Given the description of an element on the screen output the (x, y) to click on. 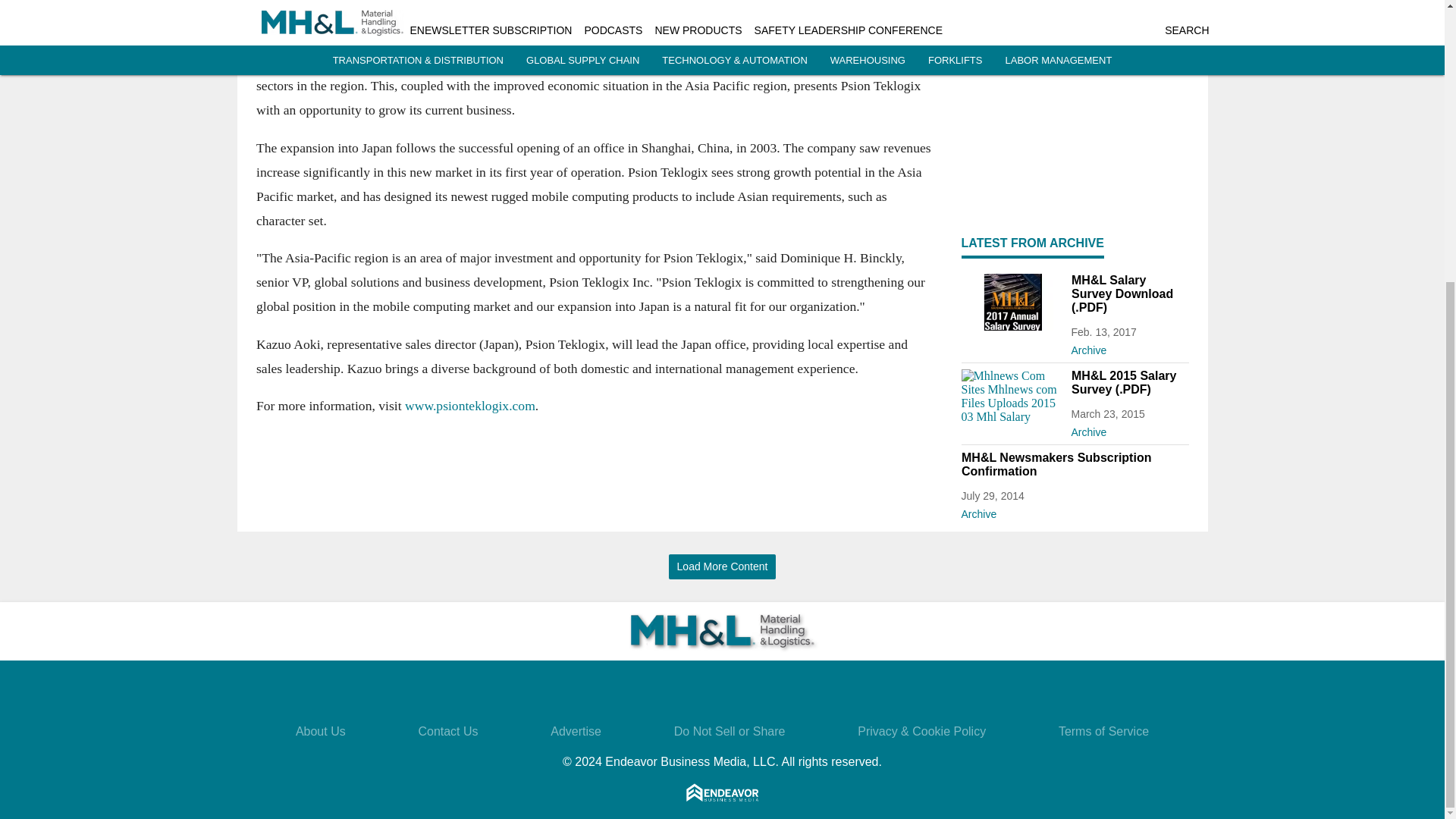
Archive (1129, 429)
About Us (320, 730)
Contact Us (447, 730)
Archive (1074, 511)
Do Not Sell or Share (730, 730)
Load More Content (722, 566)
Archive (1129, 347)
Advertise (575, 730)
www.psionteklogix.com (469, 406)
